Given the description of an element on the screen output the (x, y) to click on. 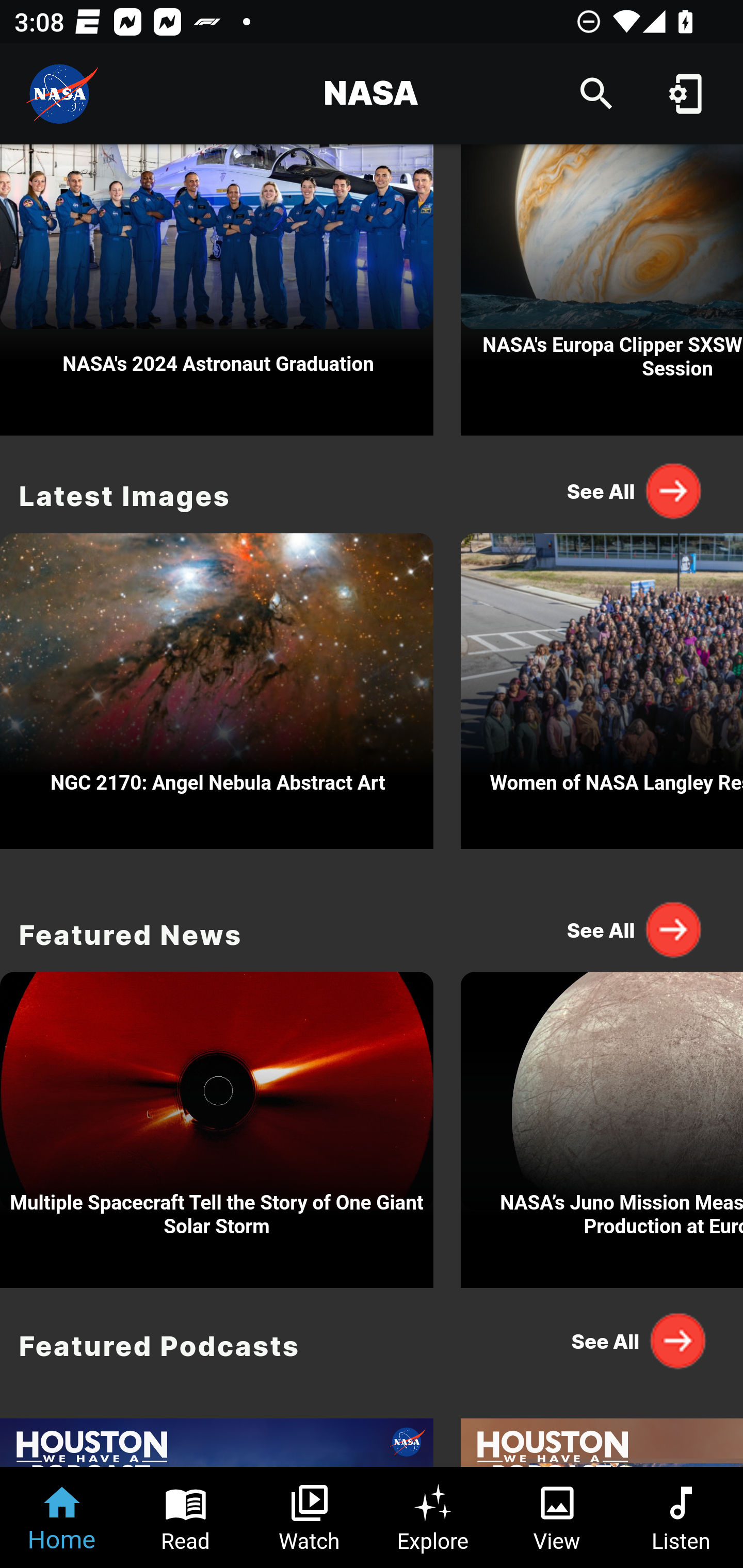
NASA's 2024 Astronaut Graduation (216, 289)
NASA's Europa Clipper SXSW 2024 Opening Session (601, 289)
See All (634, 490)
NGC 2170: Angel Nebula Abstract Art (216, 685)
Women of NASA Langley Research Center (601, 685)
See All (634, 928)
See All (634, 1340)
Home
Tab 1 of 6 (62, 1517)
Read
Tab 2 of 6 (185, 1517)
Watch
Tab 3 of 6 (309, 1517)
Explore
Tab 4 of 6 (433, 1517)
View
Tab 5 of 6 (556, 1517)
Listen
Tab 6 of 6 (680, 1517)
